Given the description of an element on the screen output the (x, y) to click on. 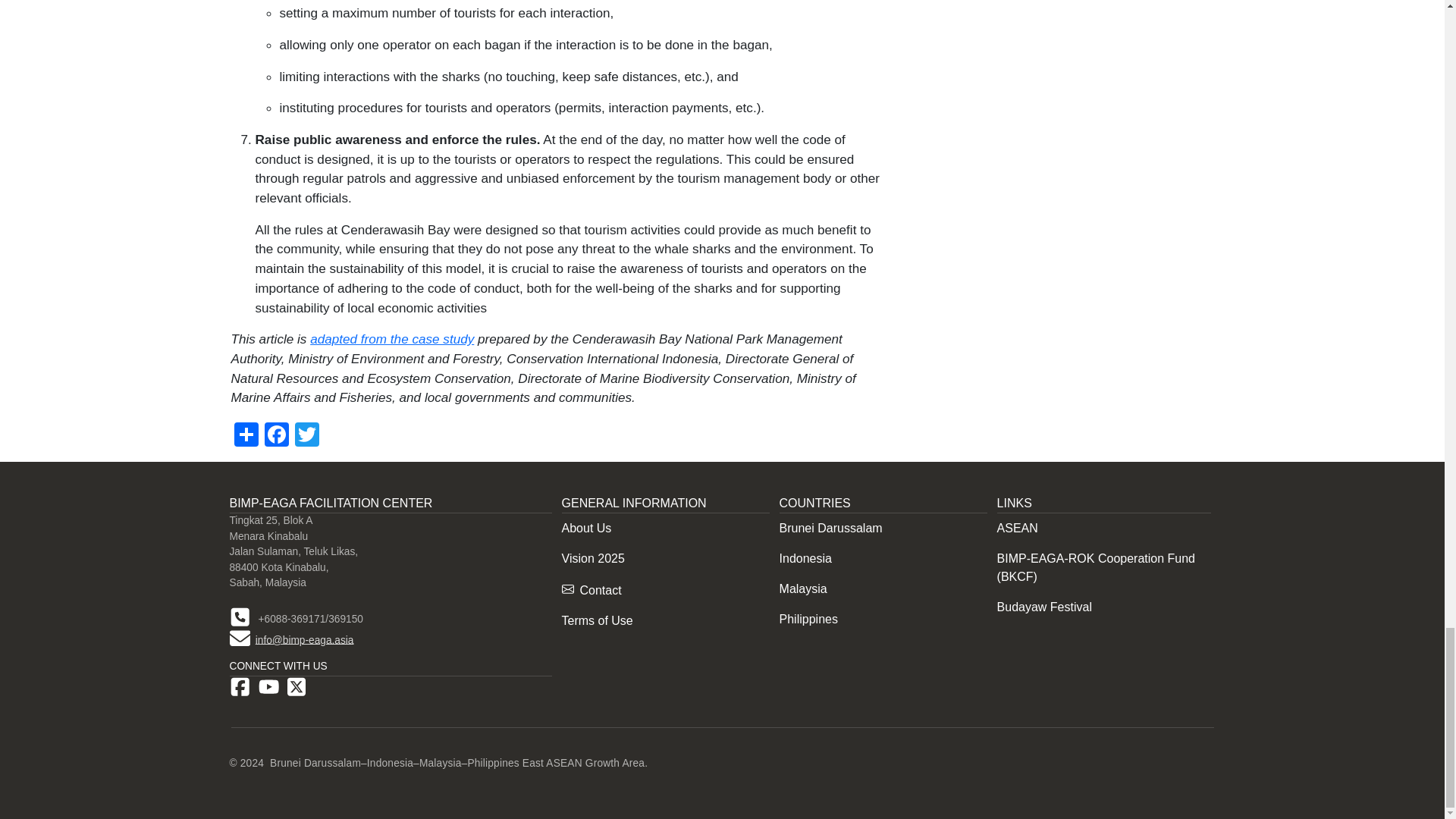
Facebook (275, 433)
Twitter (306, 433)
adapted from the case study (392, 338)
